Given the description of an element on the screen output the (x, y) to click on. 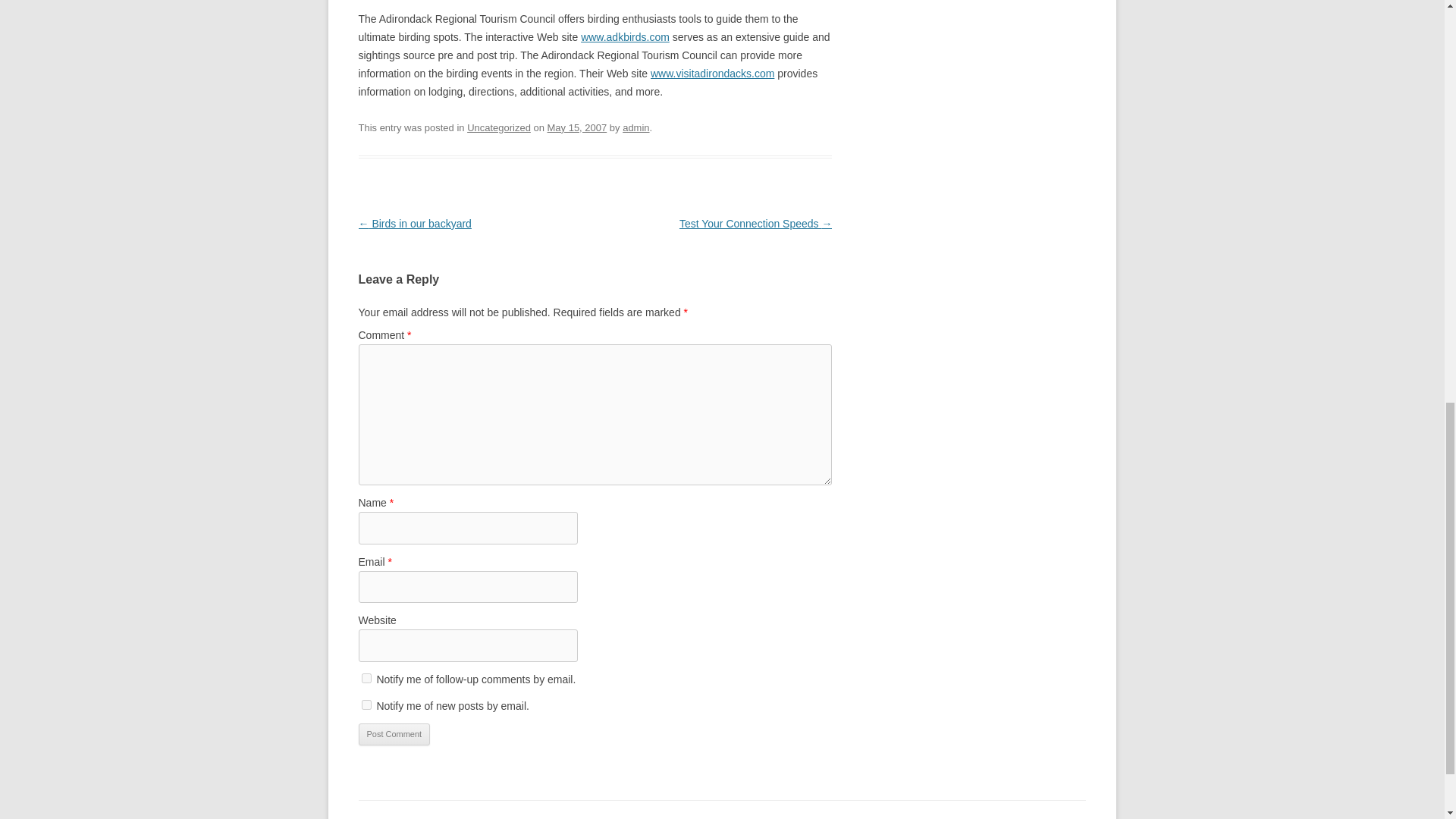
View all posts by admin (636, 127)
subscribe (366, 678)
subscribe (366, 705)
Post Comment (393, 734)
8:33 am (577, 127)
